Given the description of an element on the screen output the (x, y) to click on. 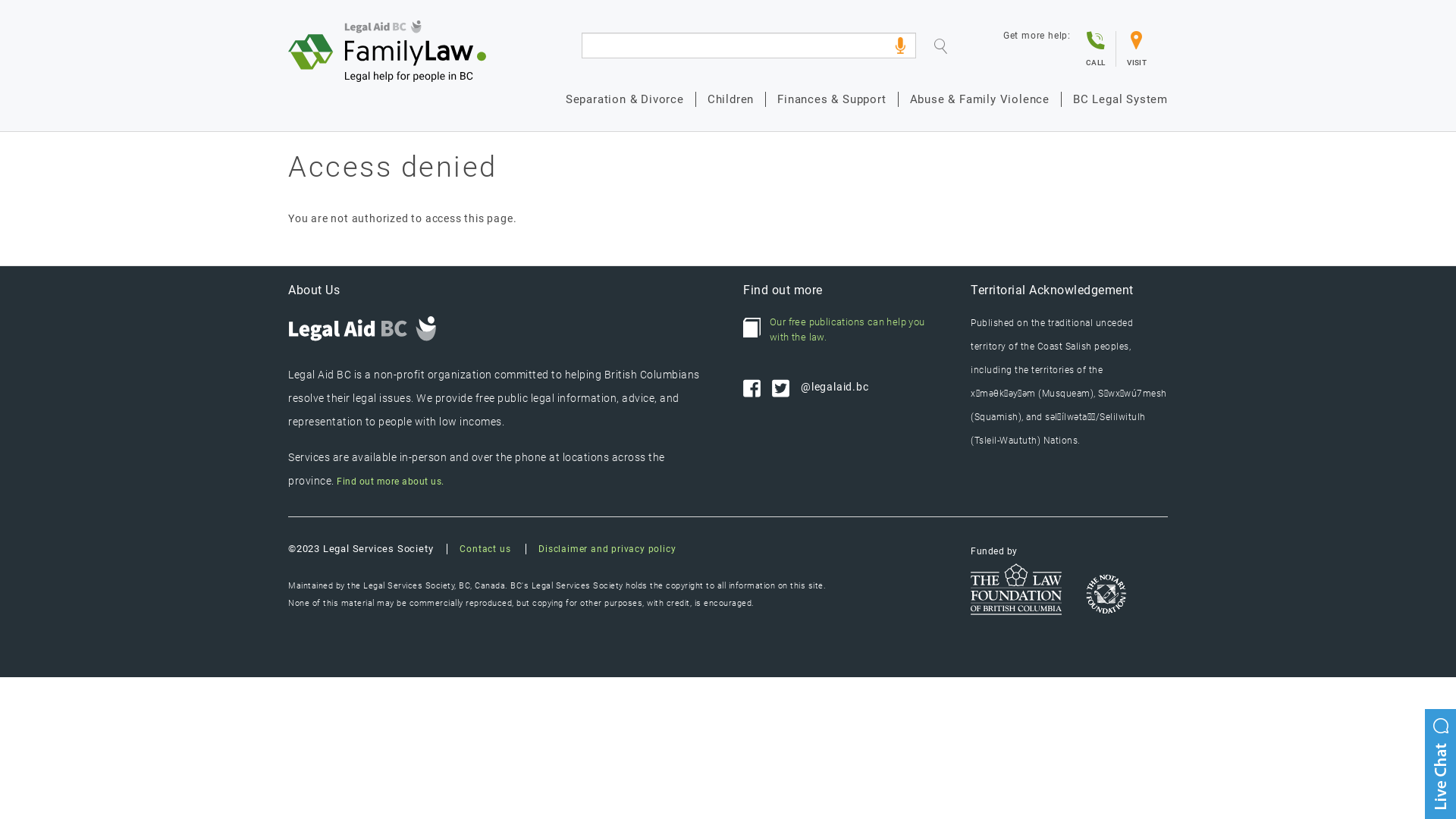
Search Element type: text (952, 48)
Contact us Element type: text (484, 548)
Disclaimer and privacy policy Element type: text (600, 548)
Abuse & Family Violence Element type: text (978, 98)
Separation & Divorce Element type: text (624, 98)
click for voice search Element type: hover (899, 45)
Our free publications can help you with the law. Element type: text (841, 329)
CALL Element type: text (1094, 47)
Children Element type: text (730, 98)
Finances & Support Element type: text (831, 98)
VISIT Element type: text (1136, 47)
Skip to main content Element type: text (0, 0)
BC Legal System Element type: text (1113, 98)
Find out more about us. Element type: text (390, 481)
